Given the description of an element on the screen output the (x, y) to click on. 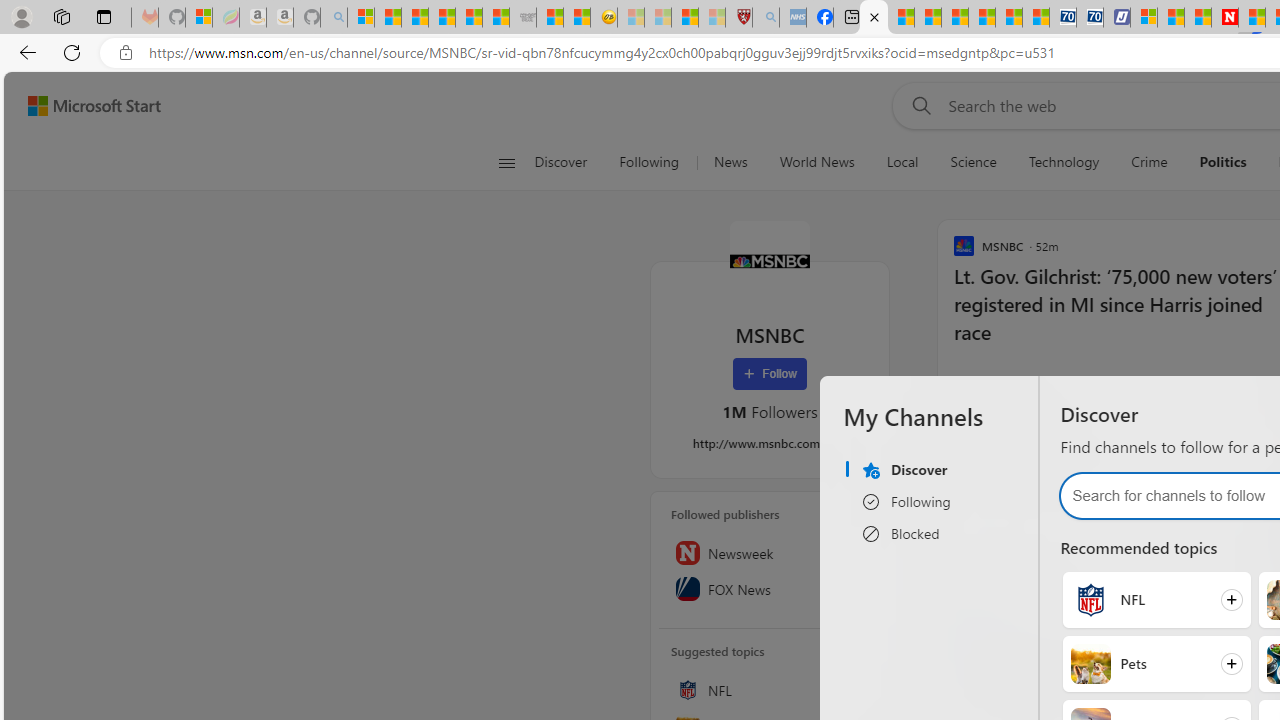
Politics (1222, 162)
